Given the description of an element on the screen output the (x, y) to click on. 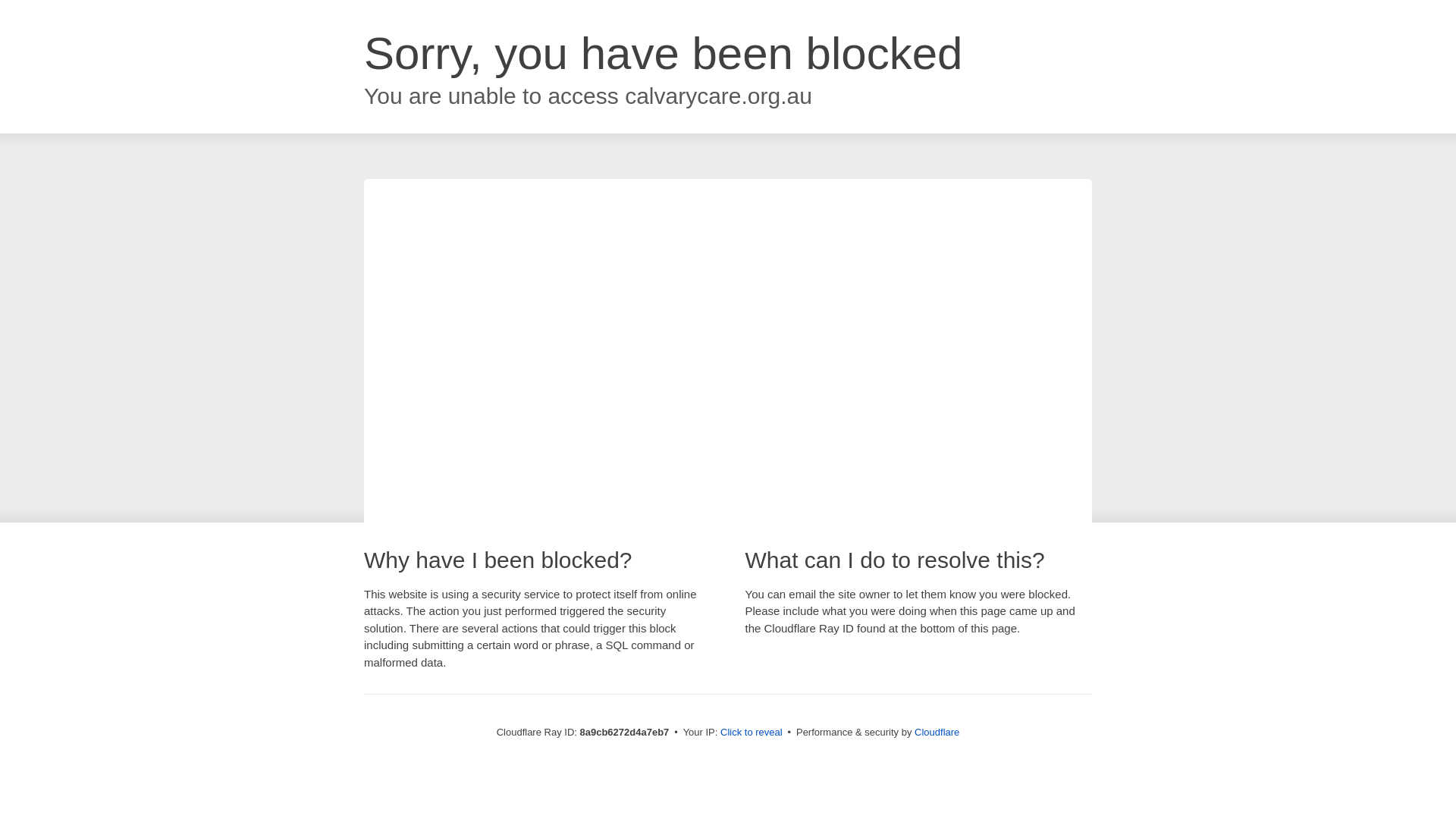
Click to reveal (751, 732)
Cloudflare (936, 731)
